Given the description of an element on the screen output the (x, y) to click on. 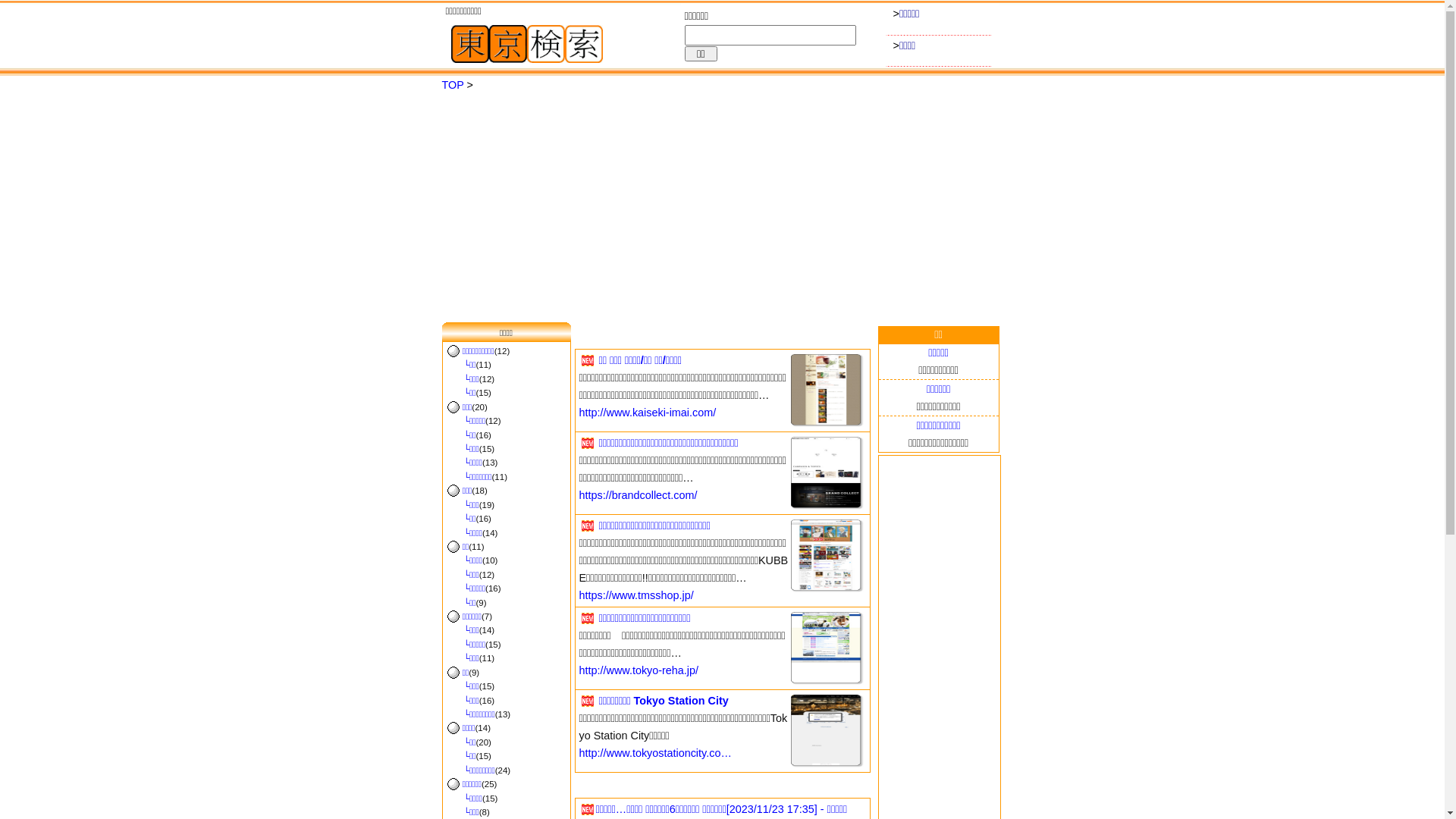
TOP Element type: text (452, 84)
http://www.kaiseki-imai.com/ Element type: text (647, 412)
https://brandcollect.com/ Element type: text (638, 495)
Advertisement Element type: hover (721, 208)
https://www.tmsshop.jp/ Element type: text (636, 595)
http://www.tokyo-reha.jp/ Element type: text (639, 670)
